Given the description of an element on the screen output the (x, y) to click on. 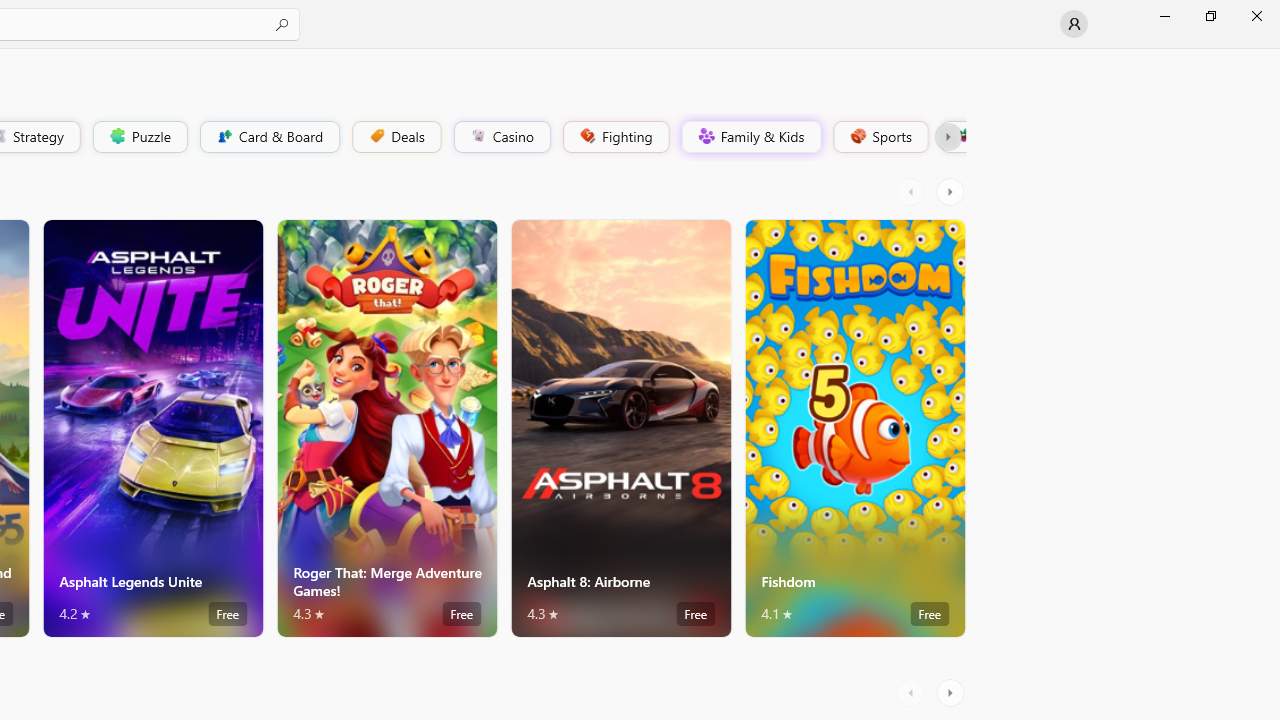
Family & Kids (750, 136)
AutomationID: RightScrollButton (952, 692)
Deals (395, 136)
User profile (1073, 24)
Card & Board (268, 136)
Fishdom. Average rating of 4.1 out of five stars. Free   (854, 427)
Casino (501, 136)
Class: Image (961, 136)
Fighting (614, 136)
Restore Microsoft Store (1210, 15)
Close Microsoft Store (1256, 15)
Minimize Microsoft Store (1164, 15)
